Given the description of an element on the screen output the (x, y) to click on. 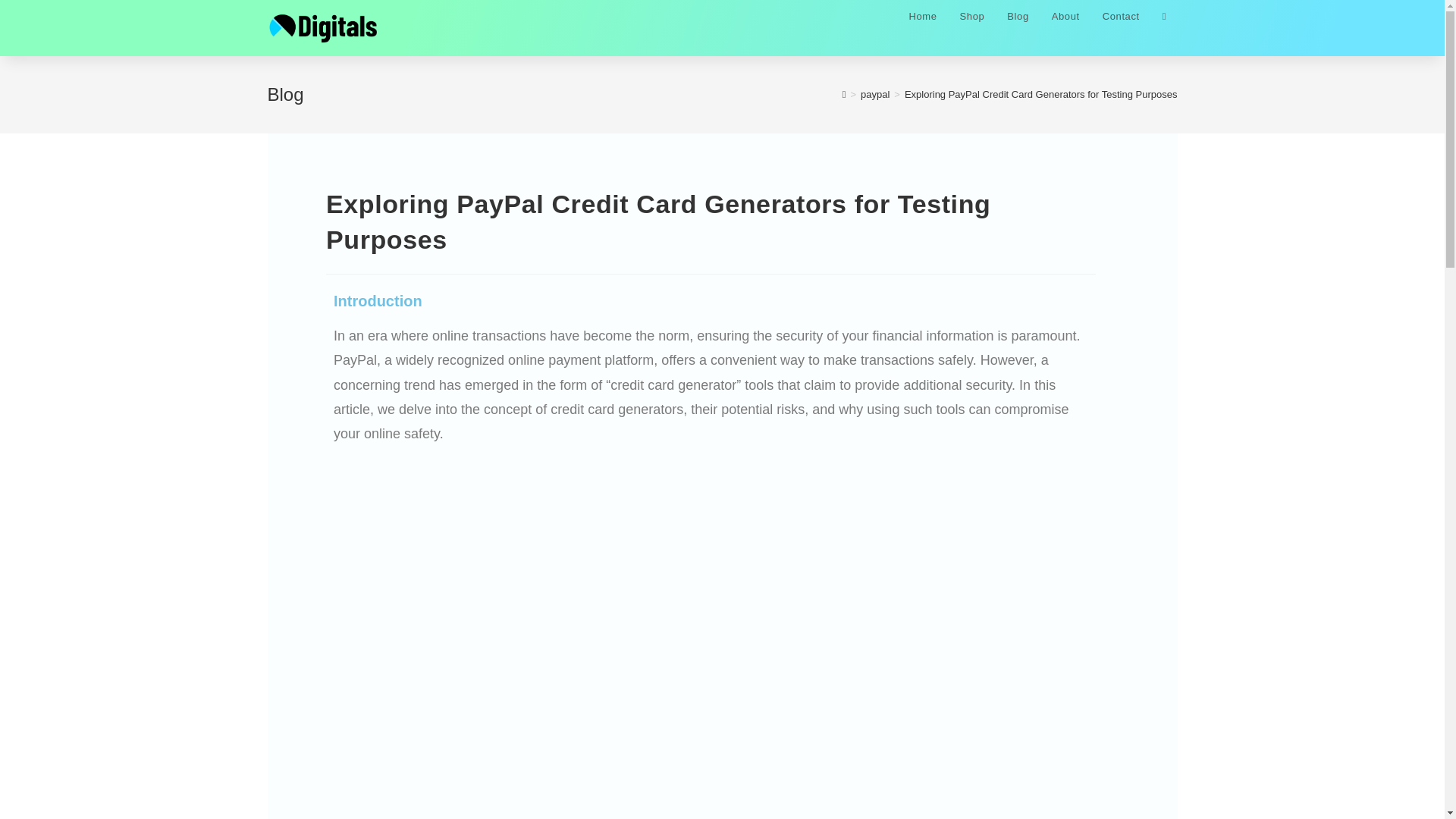
Blog (1017, 22)
Exploring PayPal Credit Card Generators for Testing Purposes (1040, 93)
About (1065, 22)
Home (921, 22)
Shop (972, 22)
Contact (1120, 22)
paypal (874, 93)
